Given the description of an element on the screen output the (x, y) to click on. 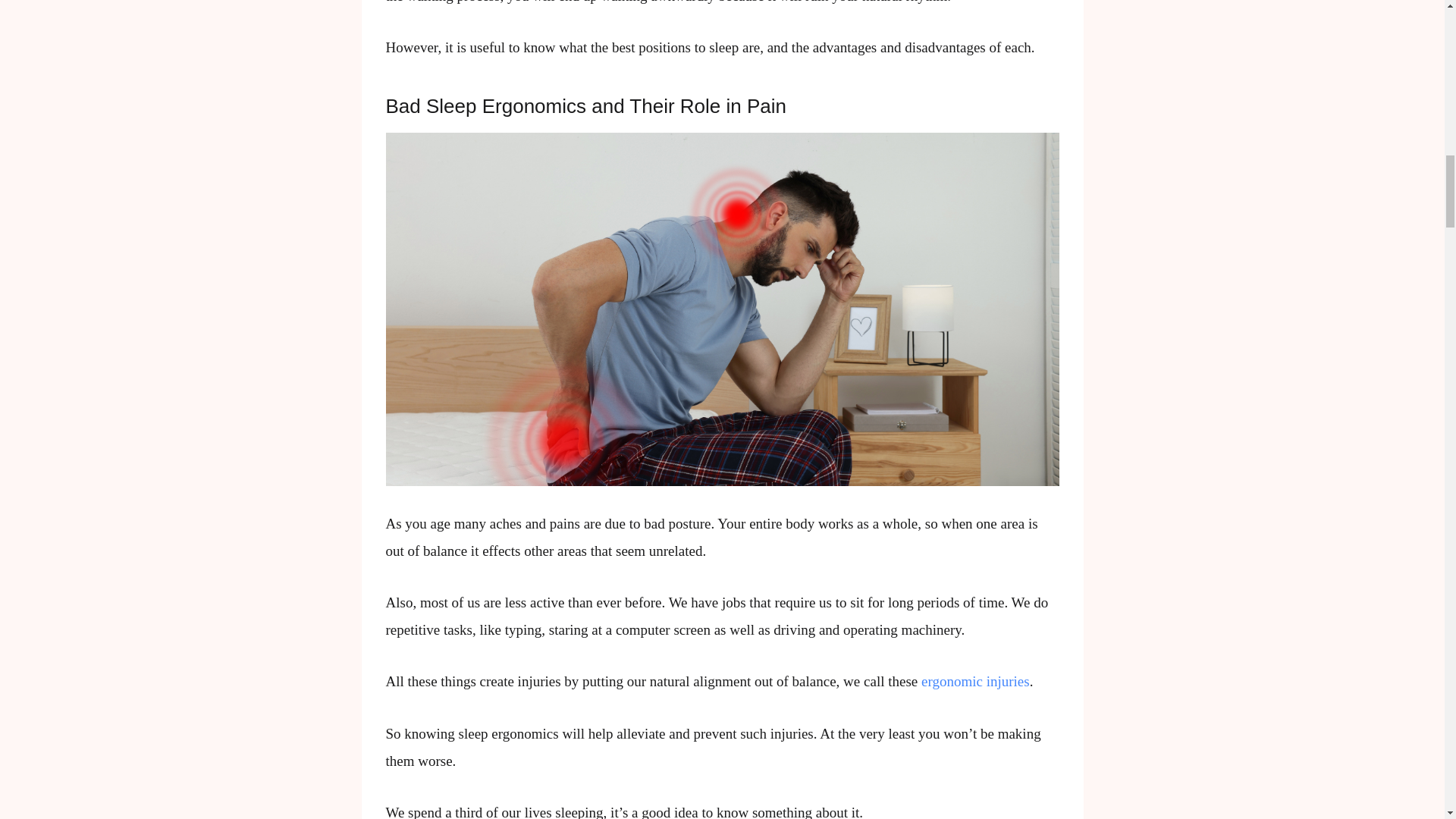
ergonomic injuries (975, 681)
